Given the description of an element on the screen output the (x, y) to click on. 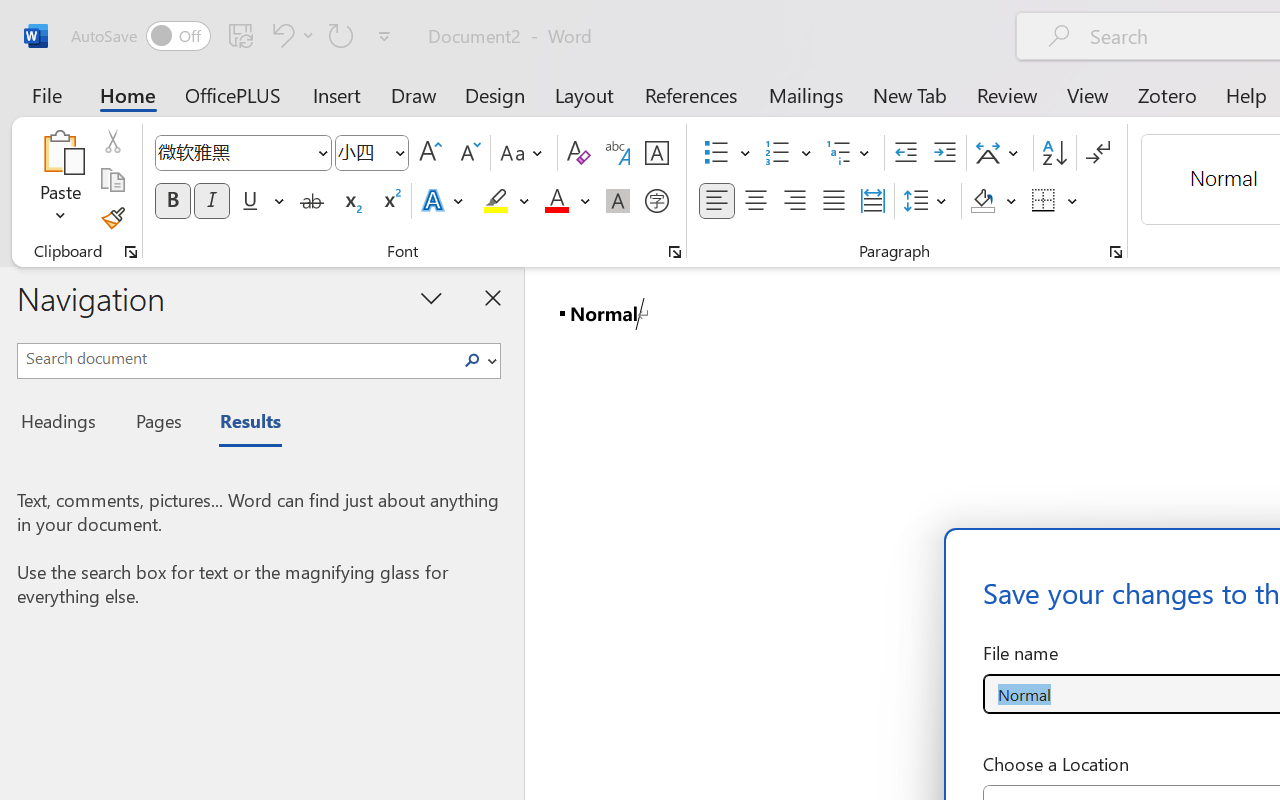
Font Size (372, 153)
Numbering (788, 153)
Show/Hide Editing Marks (1098, 153)
Draw (413, 94)
Distributed (872, 201)
Borders (1055, 201)
Superscript (390, 201)
Align Left (716, 201)
Line and Paragraph Spacing (927, 201)
Review (1007, 94)
Zotero (1166, 94)
Headings (64, 424)
Shading (993, 201)
Asian Layout (1000, 153)
